Given the description of an element on the screen output the (x, y) to click on. 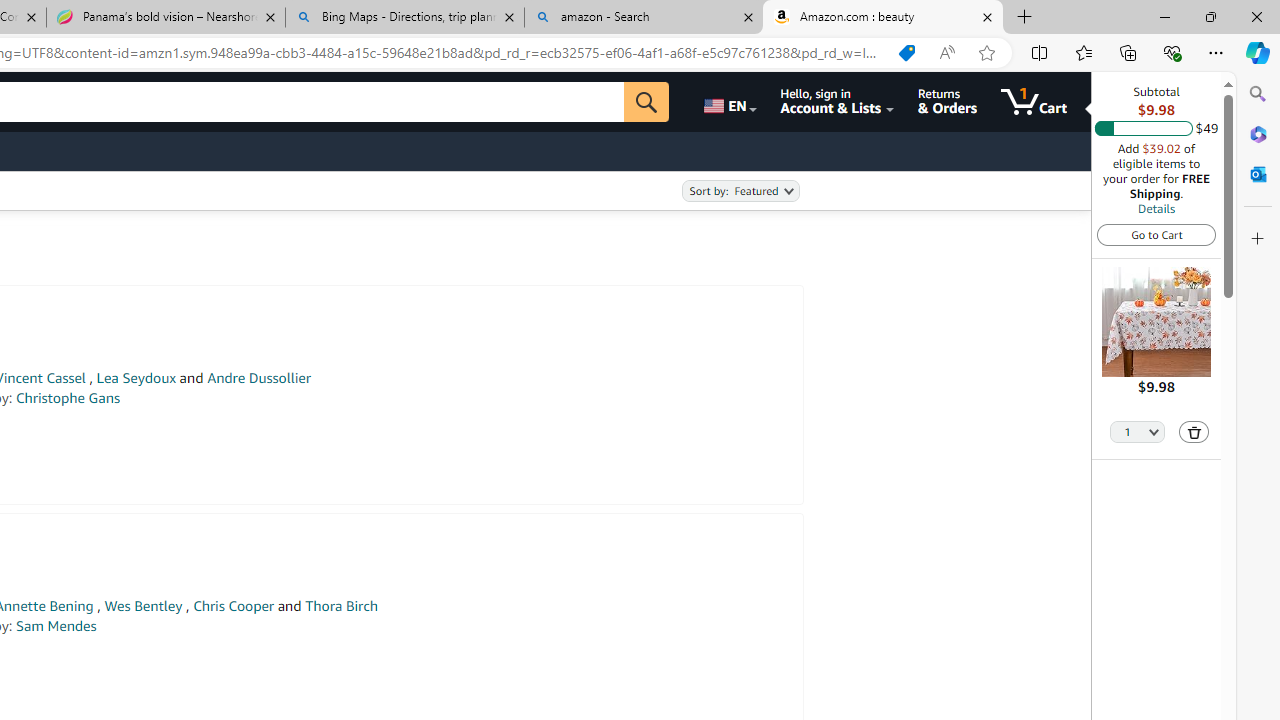
Choose a language for shopping. (728, 101)
Sam Mendes (56, 626)
1 item in cart (1034, 101)
Delete (1194, 431)
Go to Cart (1156, 234)
Amazon.com : beauty (883, 17)
Returns & Orders (946, 101)
Wes Bentley (143, 606)
Andre Dussollier (259, 378)
